Given the description of an element on the screen output the (x, y) to click on. 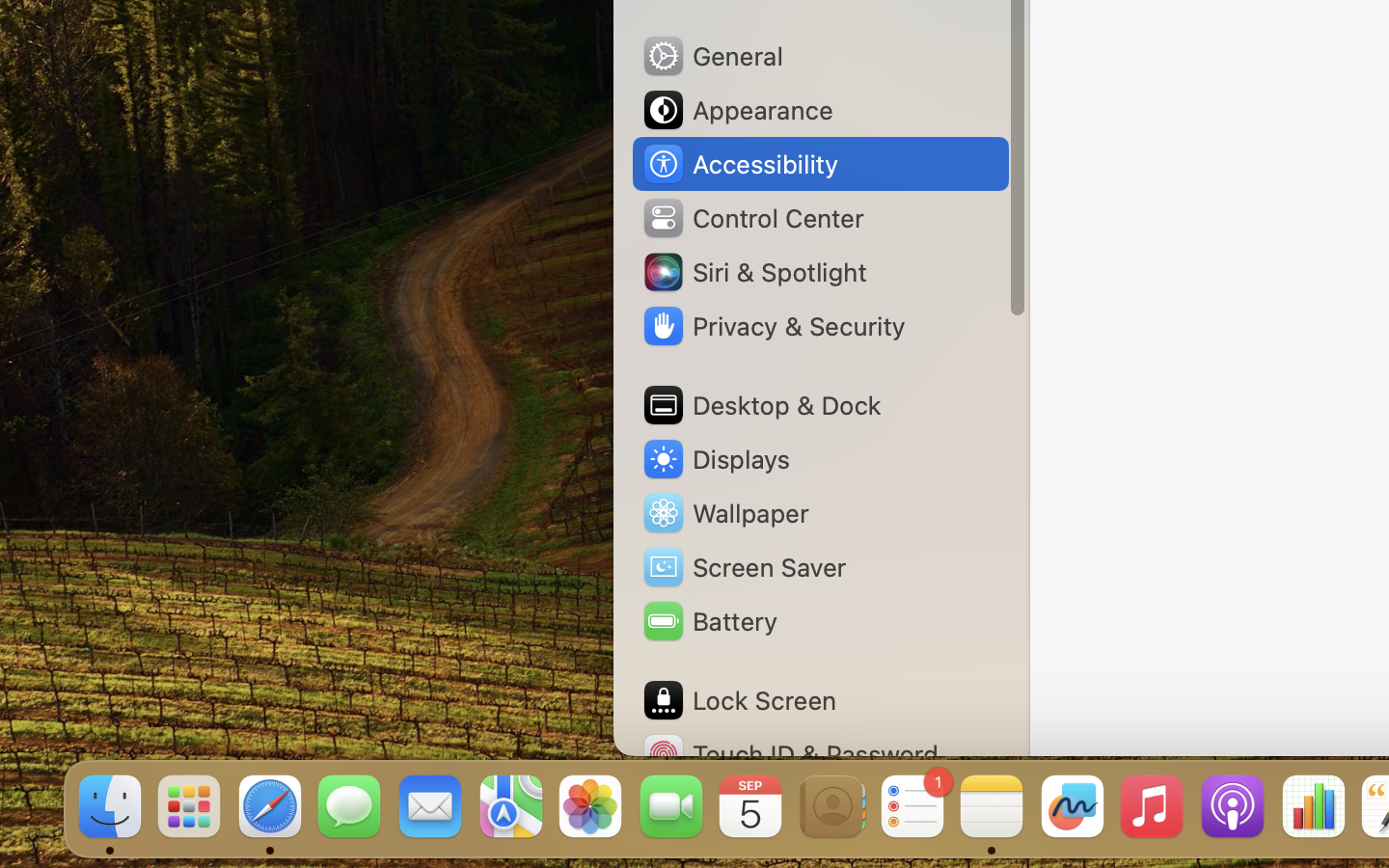
Battery Element type: AXStaticText (708, 620)
Wallpaper Element type: AXStaticText (724, 512)
Appearance Element type: AXStaticText (736, 109)
Touch ID & Password Element type: AXStaticText (789, 754)
Screen Saver Element type: AXStaticText (743, 566)
